Given the description of an element on the screen output the (x, y) to click on. 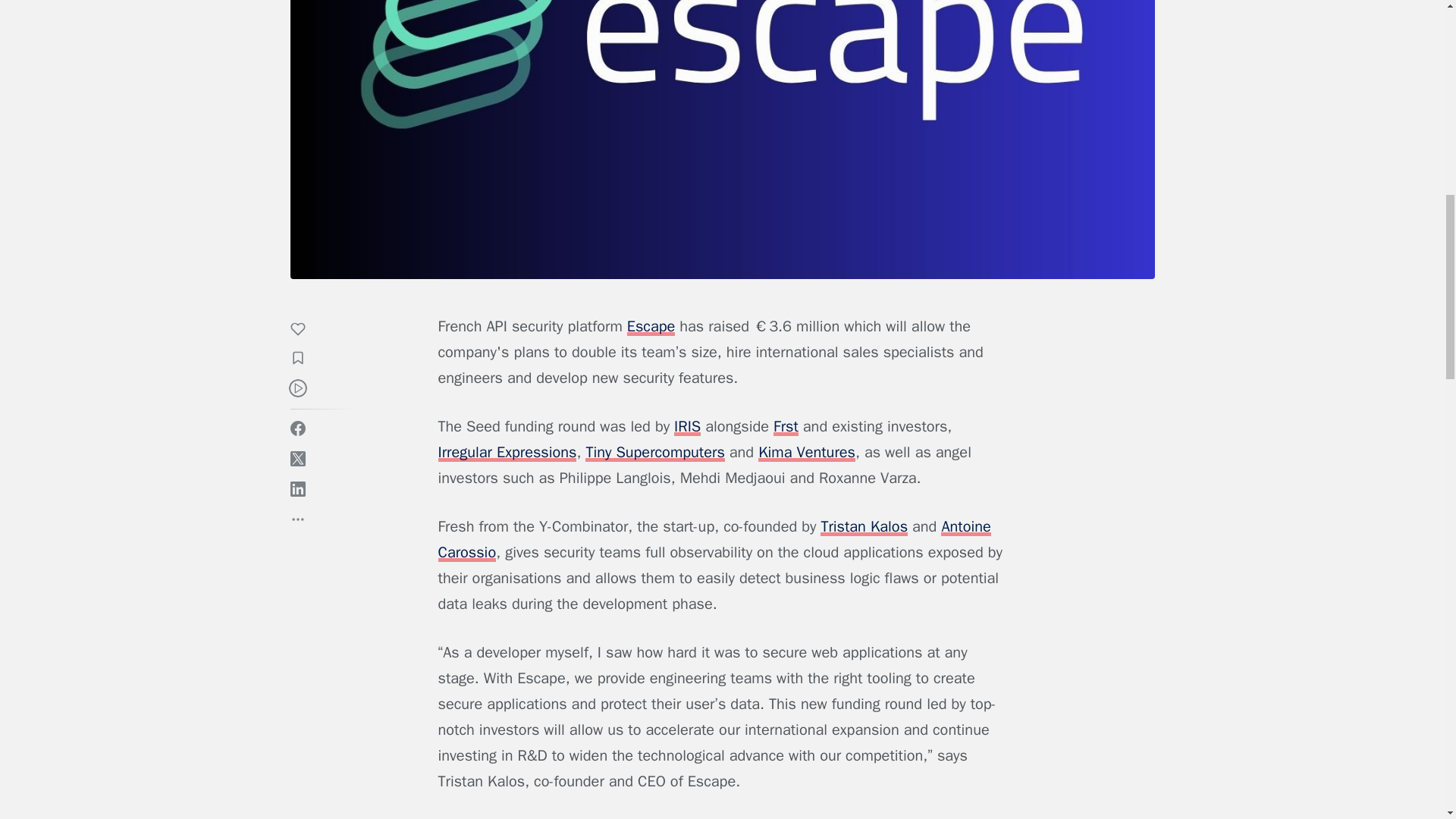
Add to collection (304, 360)
Listen this article (296, 388)
Share on Facebook (296, 427)
Like (304, 331)
Share on Twitter (296, 458)
Share on Linkedin (296, 488)
